Given the description of an element on the screen output the (x, y) to click on. 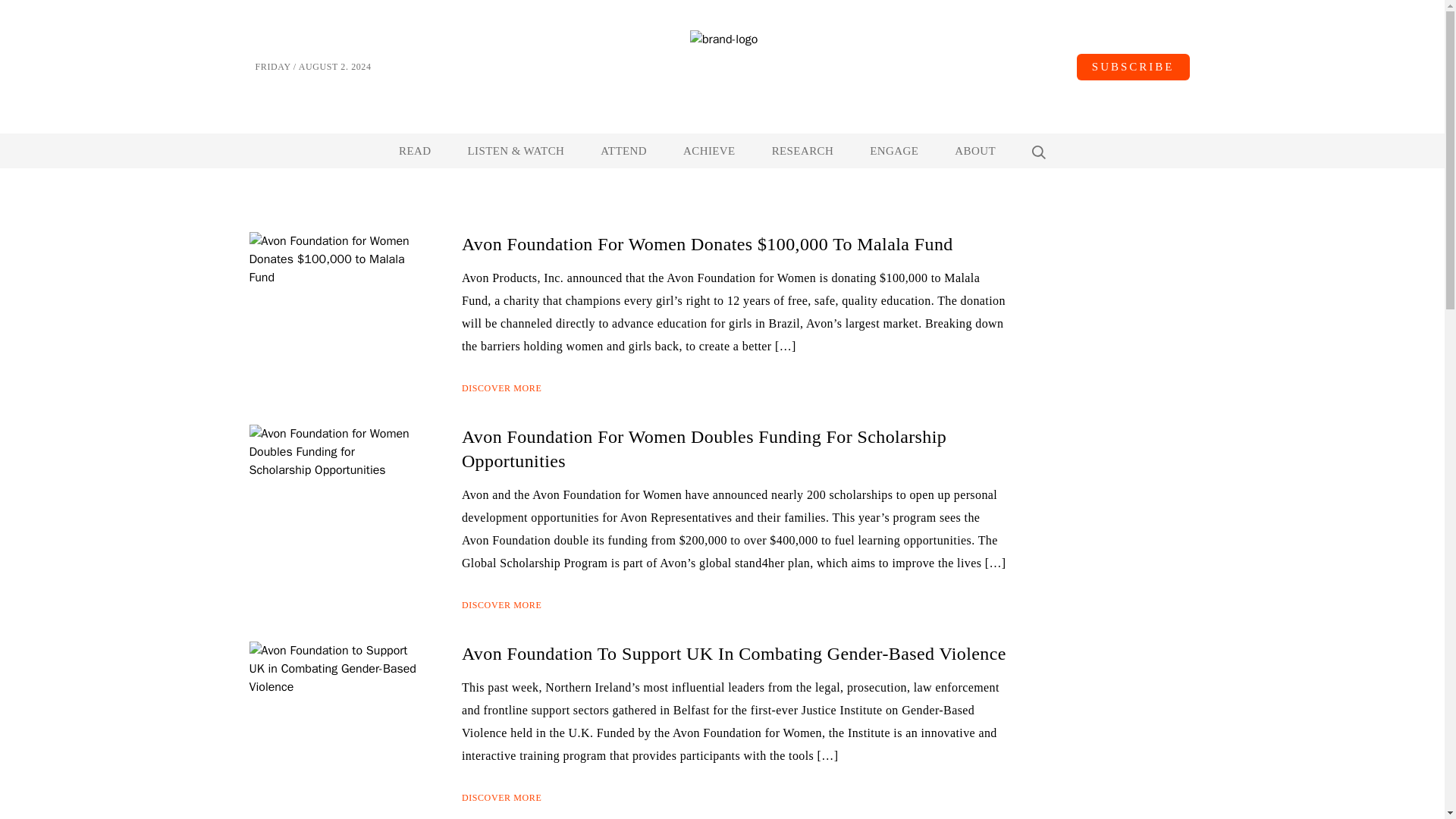
SUBSCRIBE (1133, 66)
ACHIEVE (708, 150)
RESEARCH (802, 150)
READ (414, 150)
ATTEND (622, 150)
